Given the description of an element on the screen output the (x, y) to click on. 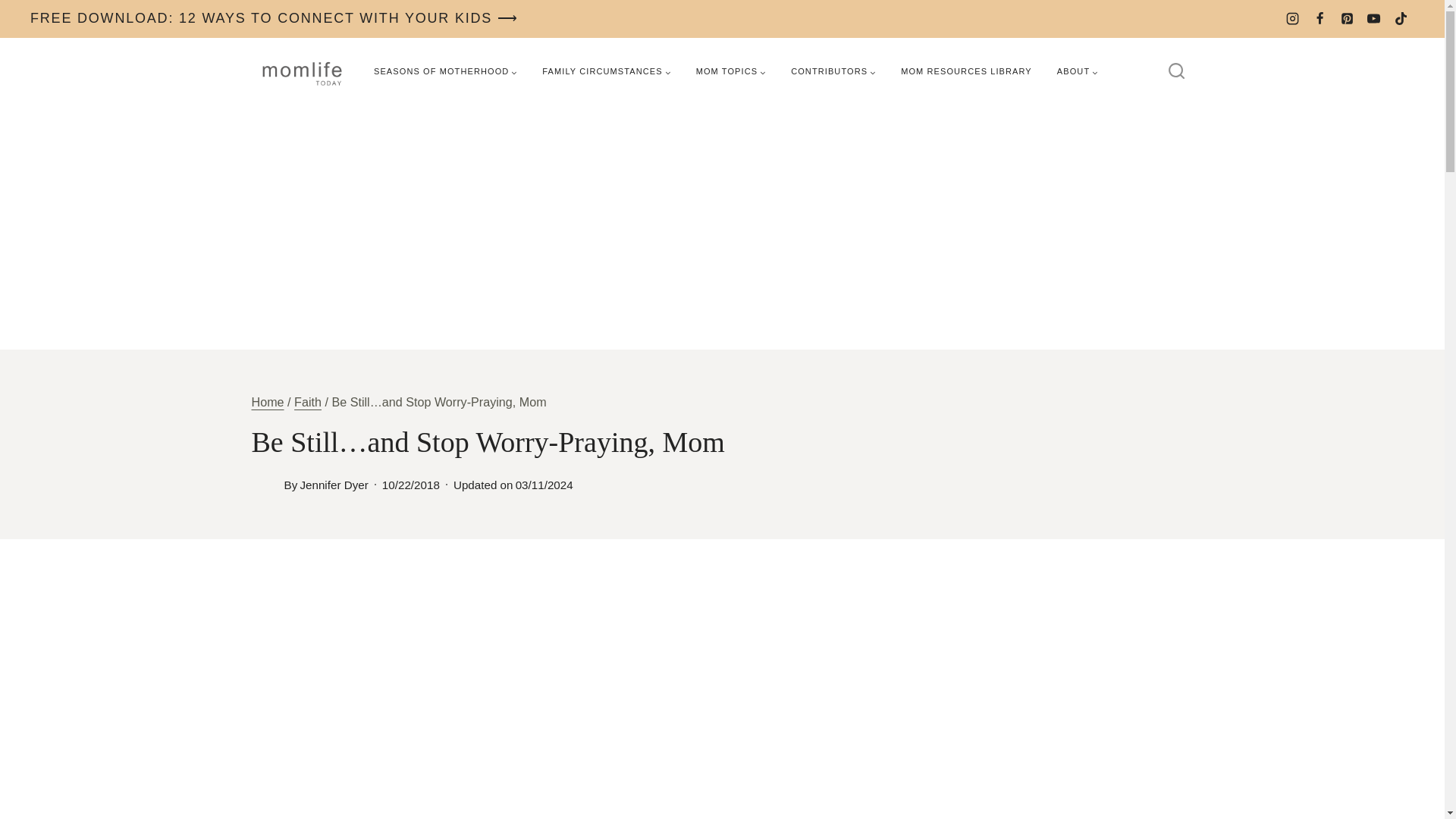
FAMILY CIRCUMSTANCES (605, 71)
CONTRIBUTORS (833, 71)
ABOUT (1076, 71)
MOM RESOURCES LIBRARY (966, 71)
MOM TOPICS (730, 71)
SEASONS OF MOTHERHOOD (445, 71)
